Given the description of an element on the screen output the (x, y) to click on. 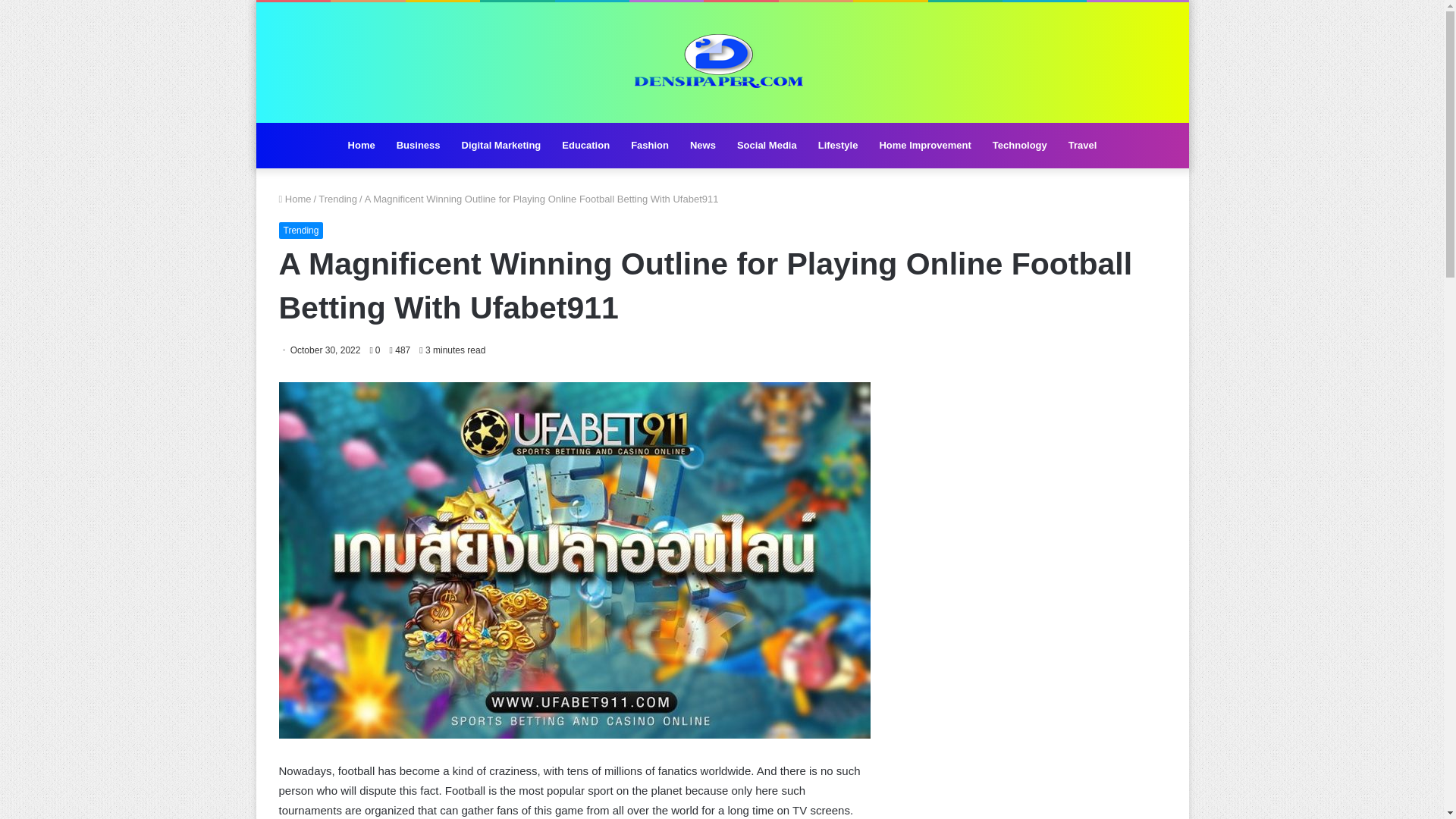
Social Media (767, 145)
Lifestyle (838, 145)
Business (418, 145)
Densipaper (721, 62)
Trending (337, 198)
Home Improvement (924, 145)
Technology (1019, 145)
Home (295, 198)
Education (585, 145)
Trending (301, 230)
Digital Marketing (501, 145)
Fashion (649, 145)
Travel (1083, 145)
News (702, 145)
Home (361, 145)
